Given the description of an element on the screen output the (x, y) to click on. 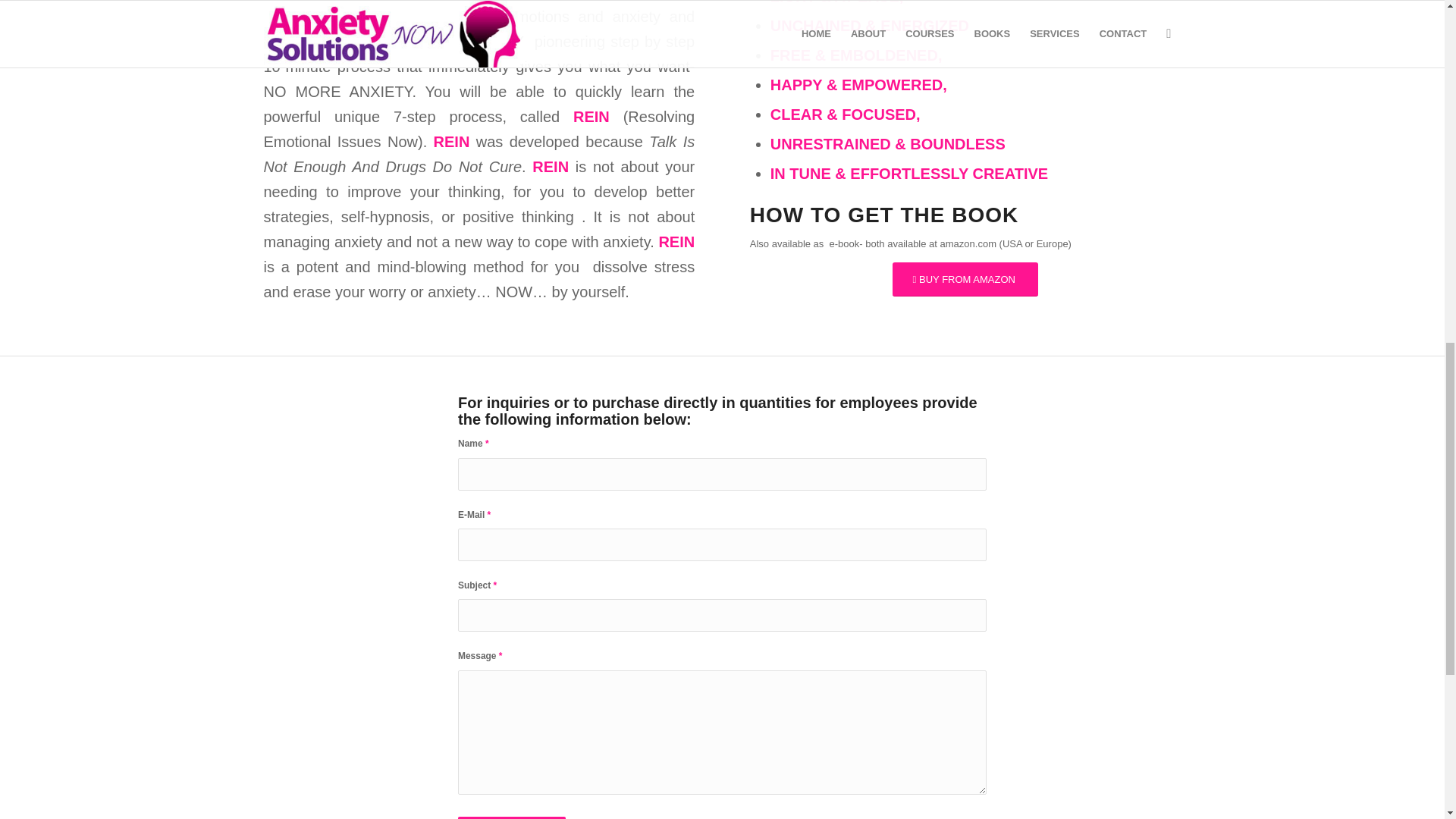
Submit (512, 817)
Submit (512, 817)
BUY FROM AMAZON (965, 279)
